Given the description of an element on the screen output the (x, y) to click on. 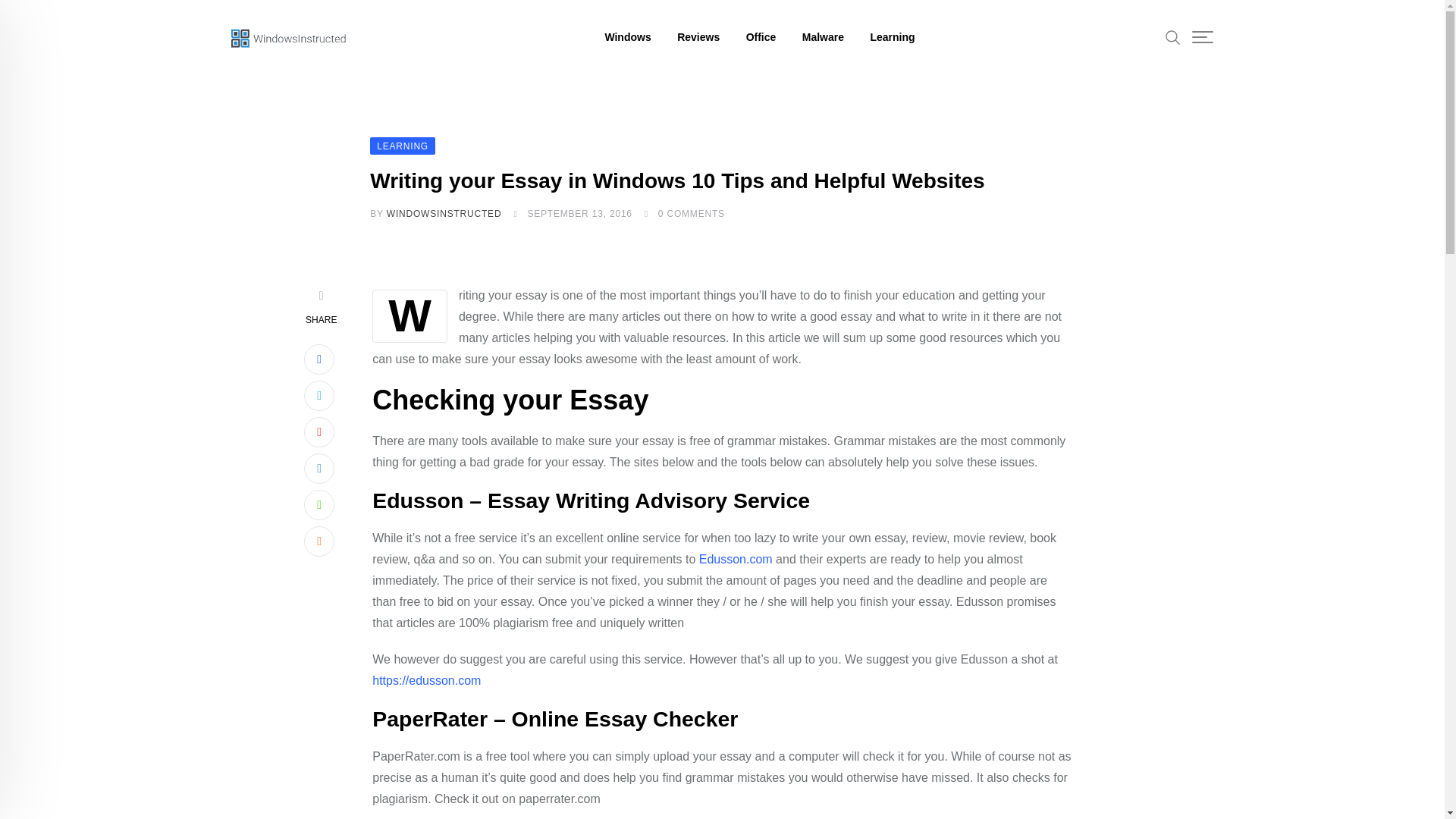
Learning (892, 37)
WINDOWSINSTRUCTED (444, 213)
Whatsapp (319, 504)
LinkedIn (319, 468)
Edusson.com (735, 558)
Search (1173, 36)
Youtube (319, 431)
Windows (627, 37)
Cloud (319, 541)
Posts by WindowsInstructed (444, 213)
